Given the description of an element on the screen output the (x, y) to click on. 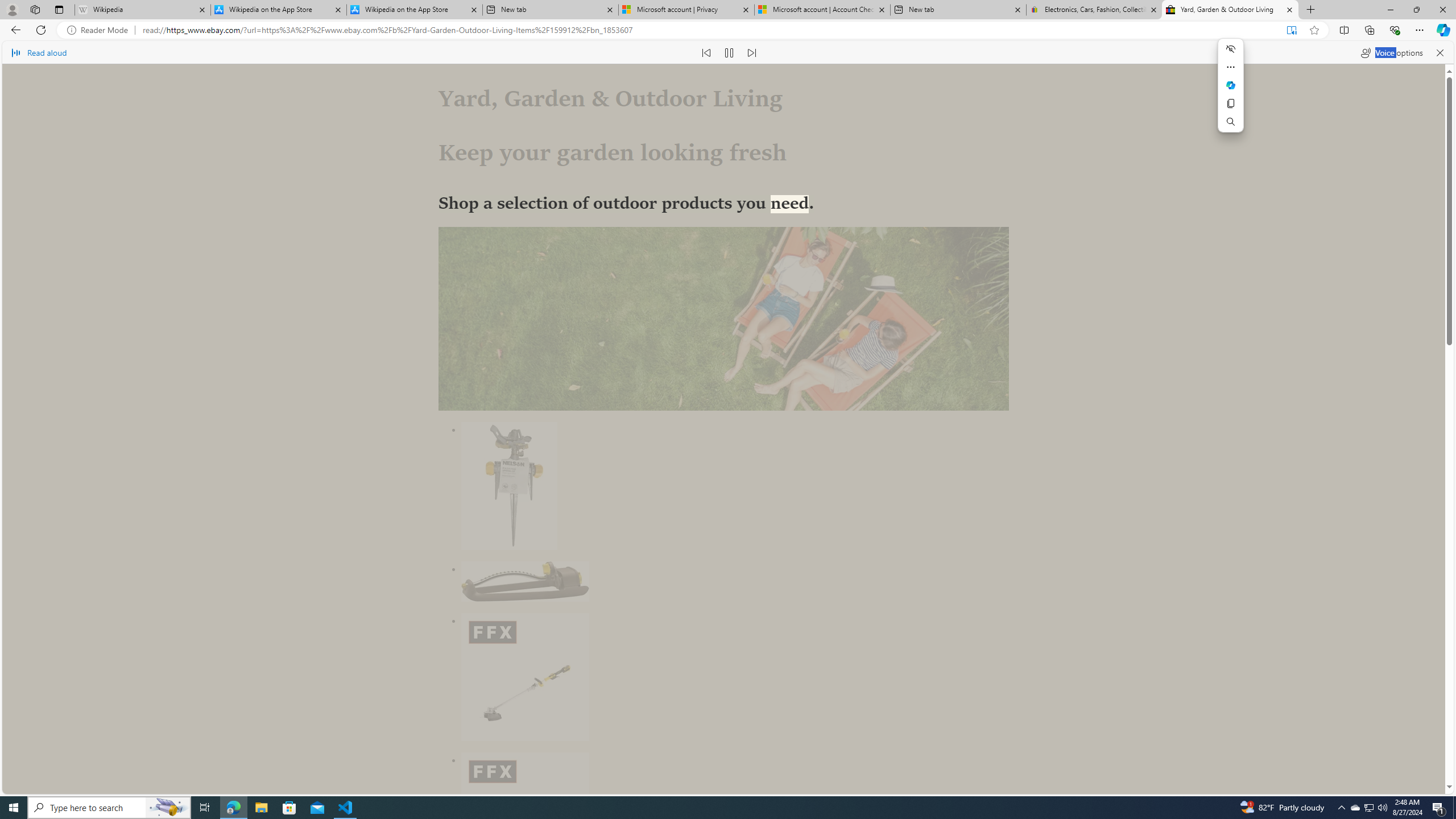
Microsoft account | Account Checkup (822, 9)
Mini menu on text selection (1230, 91)
eBay Deals (708, 692)
garden supplies (659, 526)
Mini menu on text selection (1230, 84)
eBay Coupons (900, 692)
Exit Immersive Reader (F9) (1291, 29)
Hide menu (1230, 49)
